Given the description of an element on the screen output the (x, y) to click on. 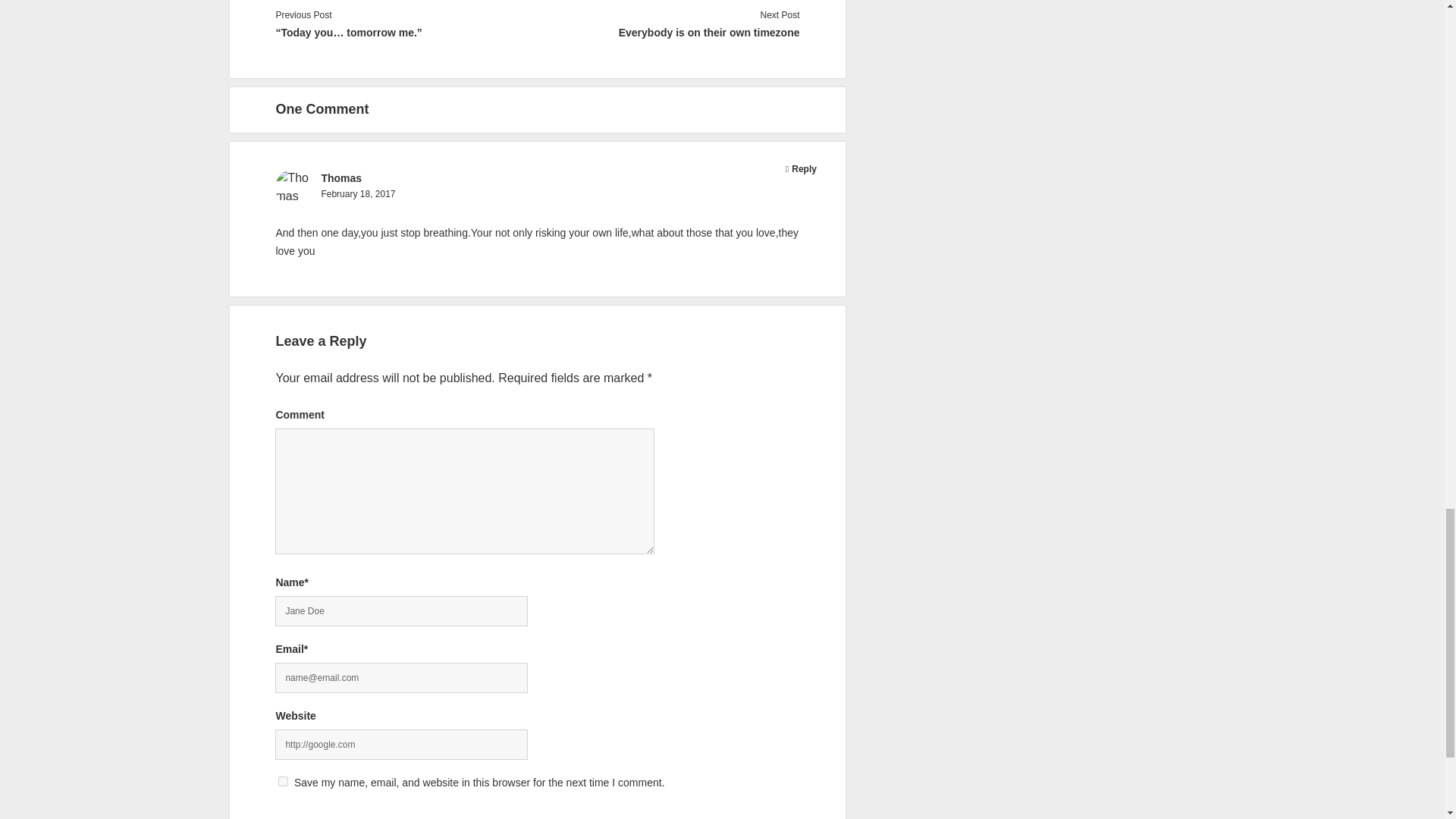
Reply (804, 168)
yes (283, 781)
Everybody is on their own timezone (668, 32)
